Given the description of an element on the screen output the (x, y) to click on. 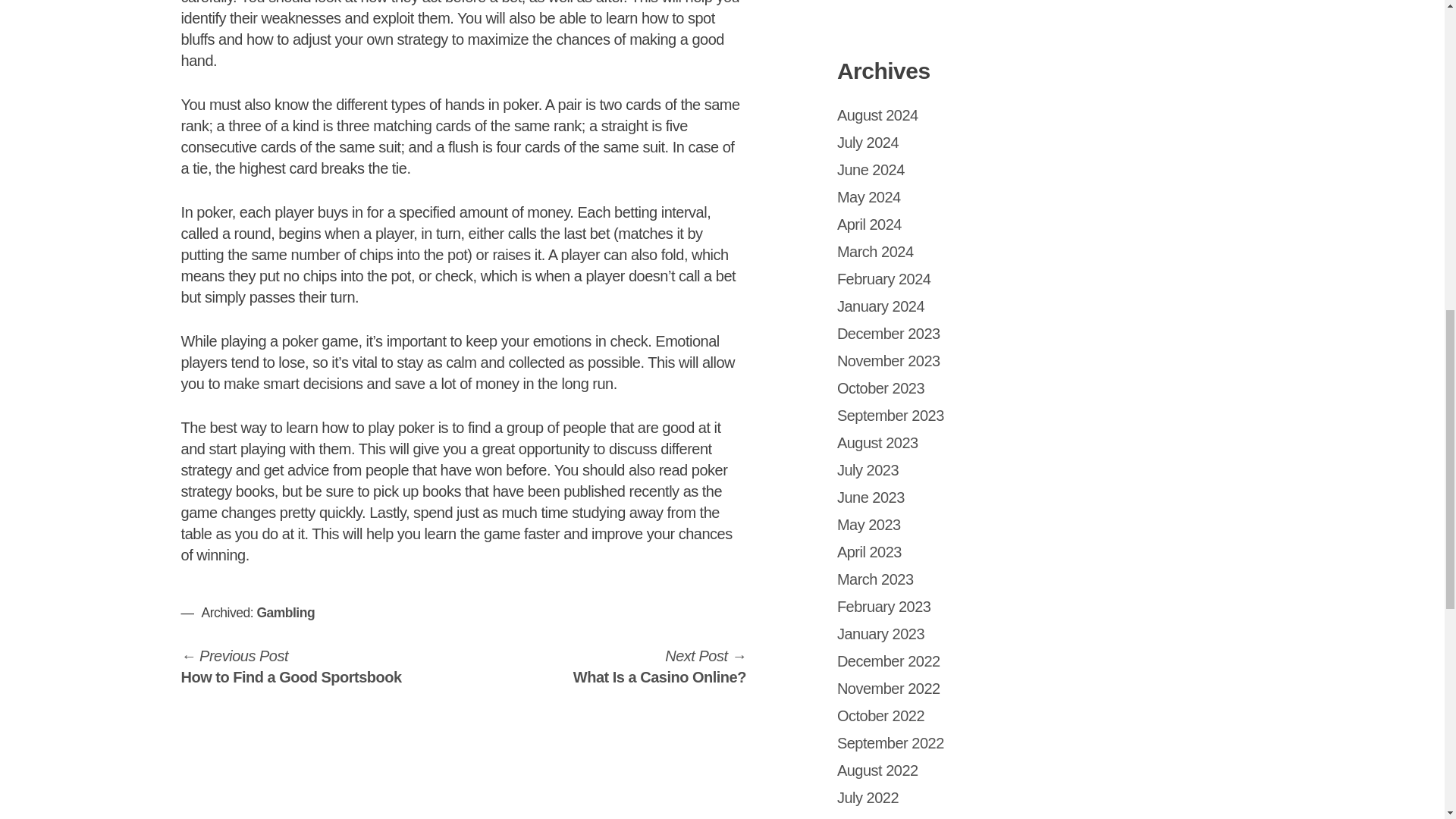
June 2024 (870, 169)
January 2023 (880, 633)
August 2024 (877, 115)
May 2024 (869, 197)
February 2023 (884, 606)
September 2023 (890, 415)
August 2023 (877, 442)
July 2024 (867, 142)
April 2024 (869, 224)
